Given the description of an element on the screen output the (x, y) to click on. 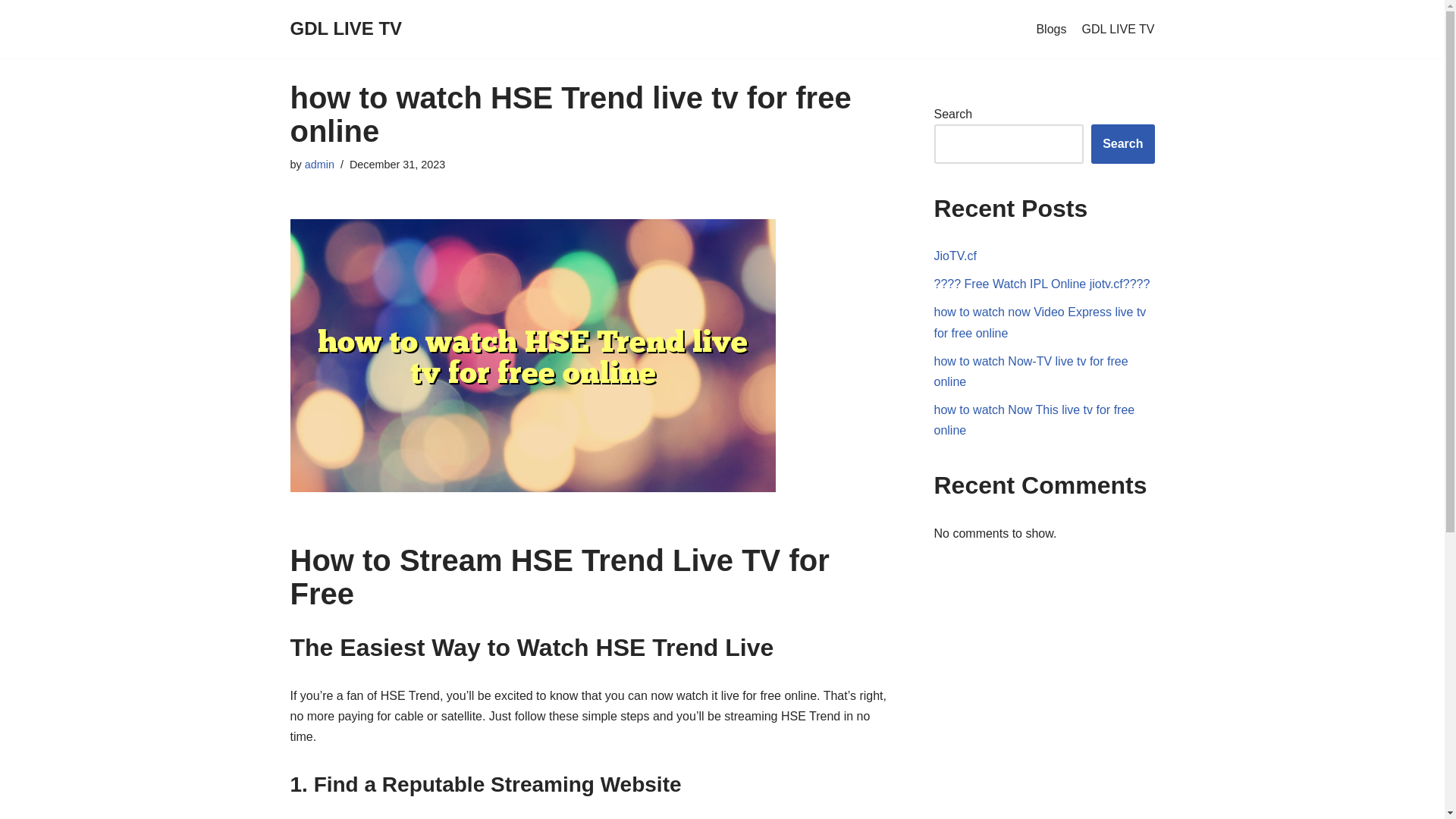
admin (319, 164)
GDL LIVE TV (1117, 29)
Search (1122, 143)
Posts by admin (319, 164)
Blogs (1050, 29)
JioTV.cf (955, 255)
GDL LIVE TV (345, 29)
how to watch Now This live tv for free online (1034, 419)
???? Free Watch IPL Online jiotv.cf???? (1042, 283)
how to watch now Video Express live tv for free online (1040, 322)
Skip to content (11, 31)
how to watch Now-TV live tv for free online (1031, 371)
